Given the description of an element on the screen output the (x, y) to click on. 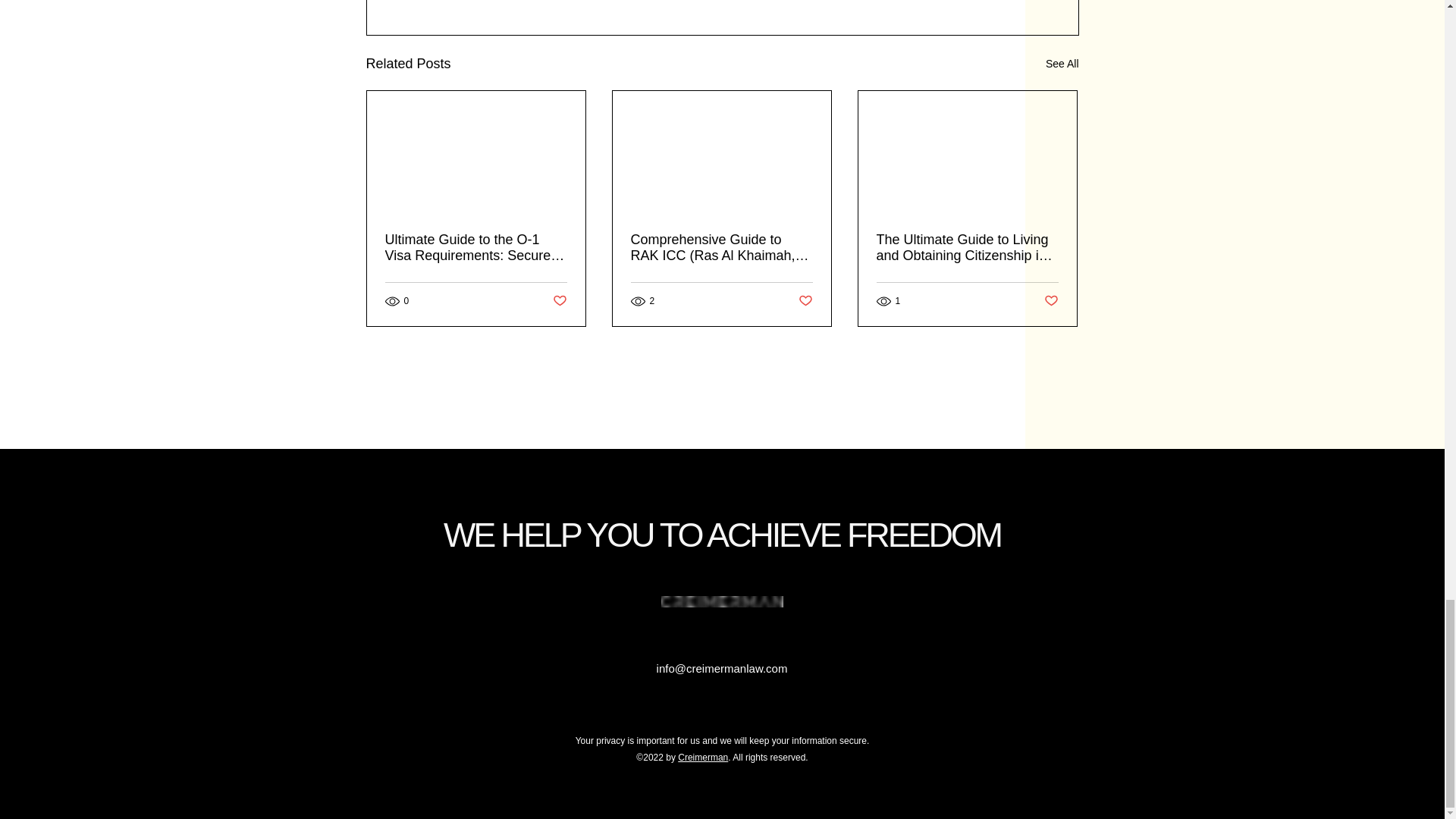
See All (1061, 64)
Post not marked as liked (804, 301)
Creimerman (703, 757)
Post not marked as liked (1050, 301)
Post not marked as liked (558, 301)
